Given the description of an element on the screen output the (x, y) to click on. 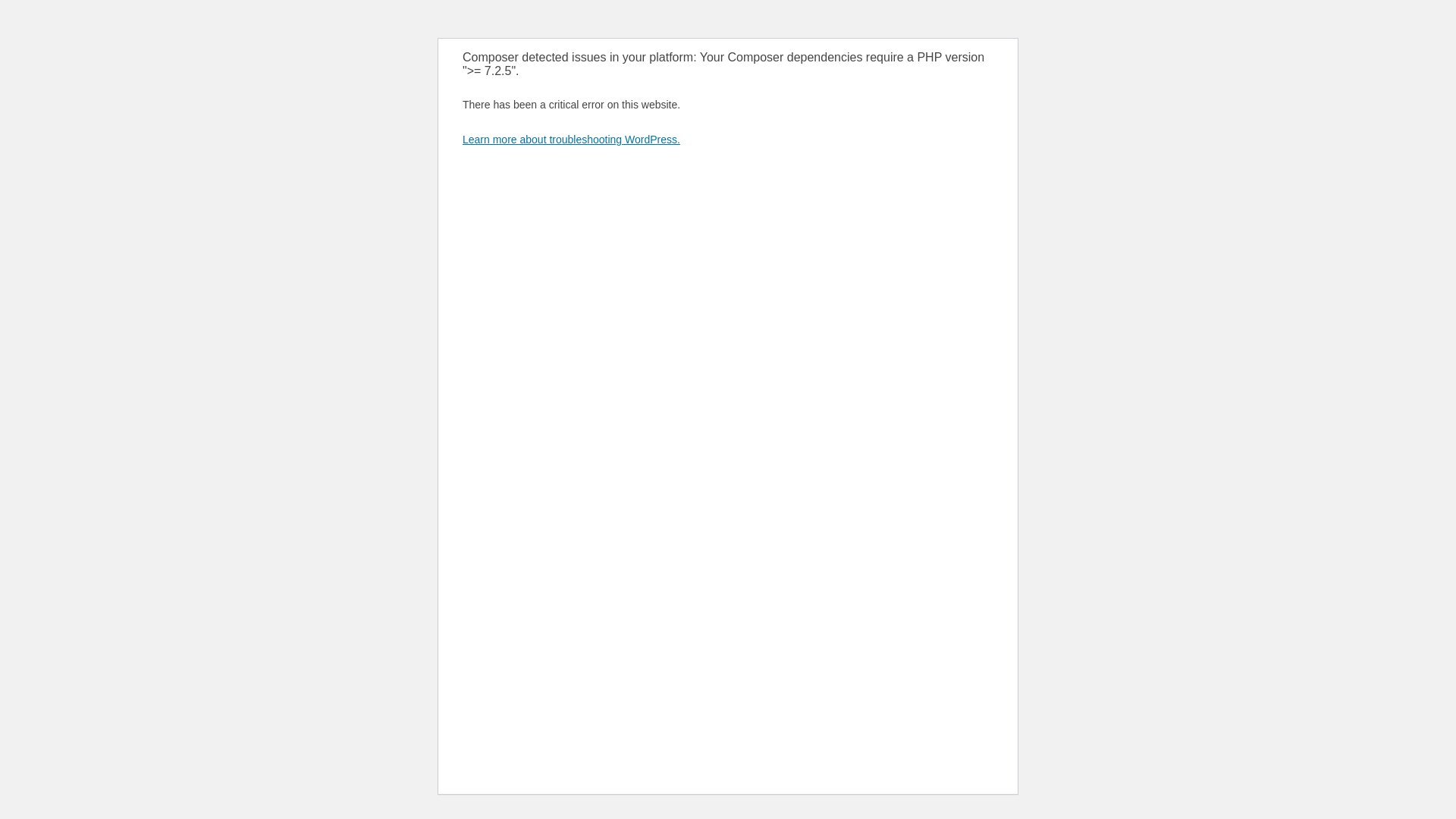
Learn more about troubleshooting WordPress. Element type: text (571, 139)
